Given the description of an element on the screen output the (x, y) to click on. 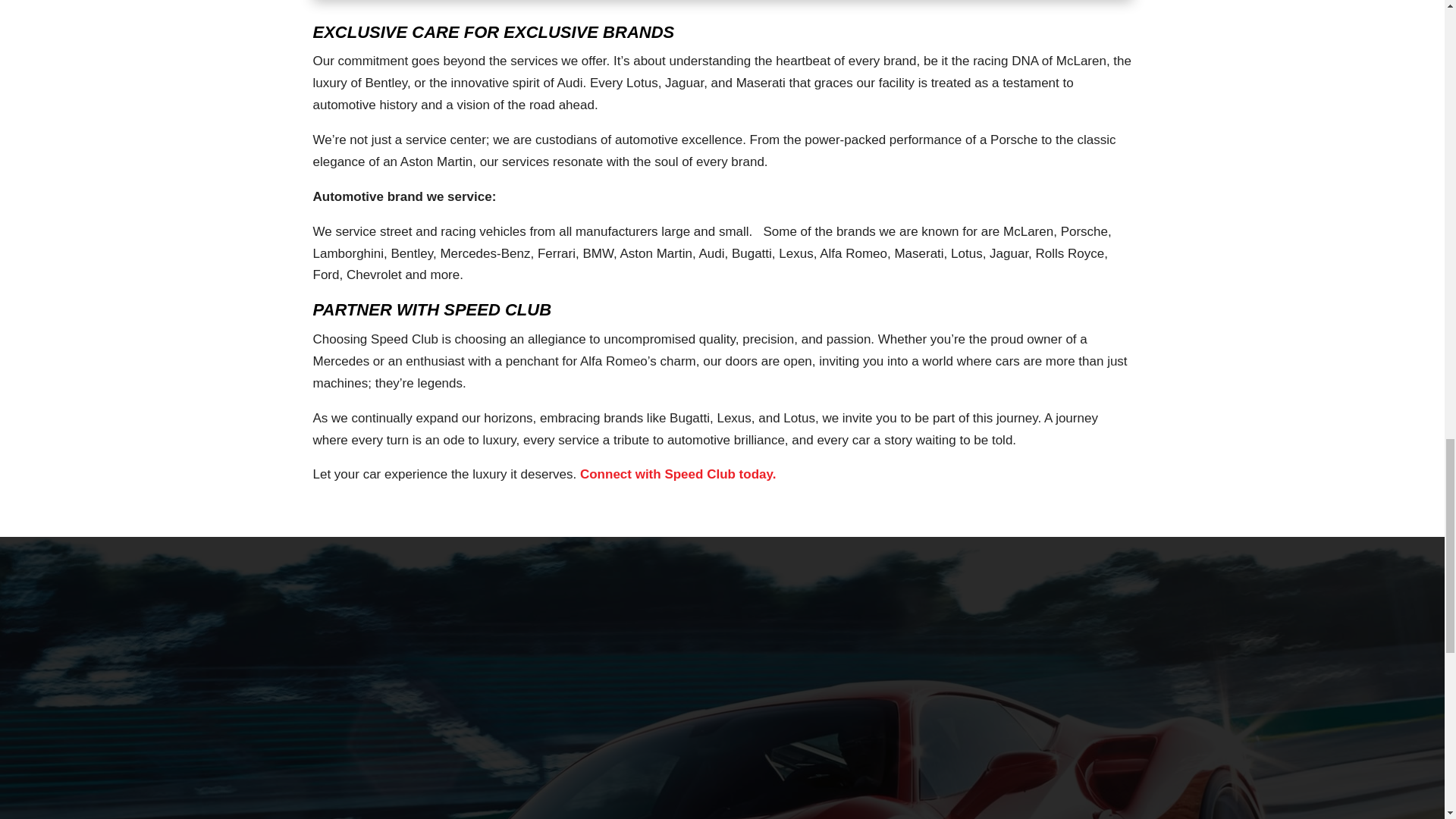
Connect with Speed Club today. (677, 473)
